Given the description of an element on the screen output the (x, y) to click on. 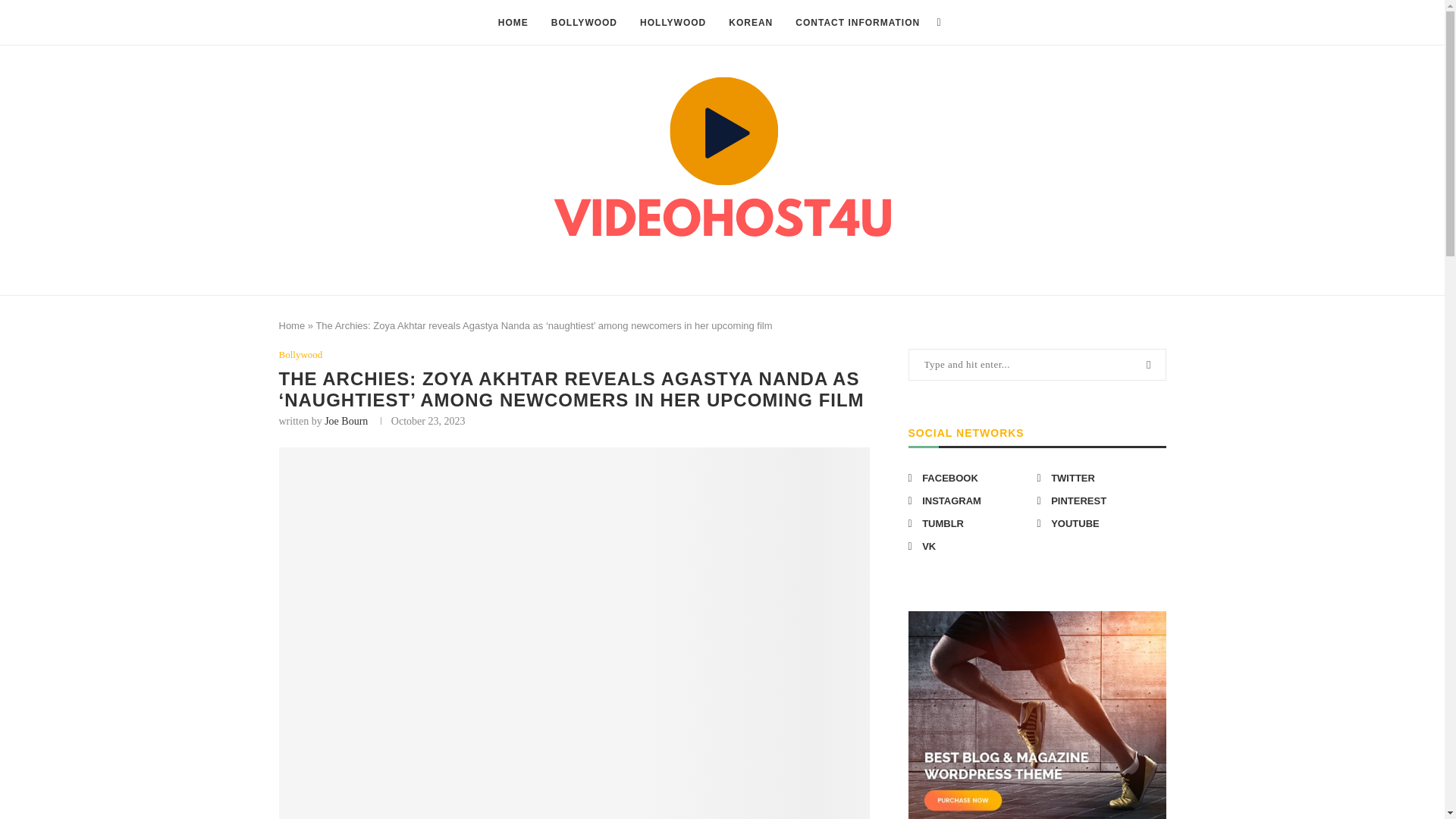
Joe Bourn (346, 420)
HOLLYWOOD (673, 22)
Home (292, 325)
Bollywood (301, 354)
BOLLYWOOD (584, 22)
KOREAN (751, 22)
CONTACT INFORMATION (857, 22)
